Given the description of an element on the screen output the (x, y) to click on. 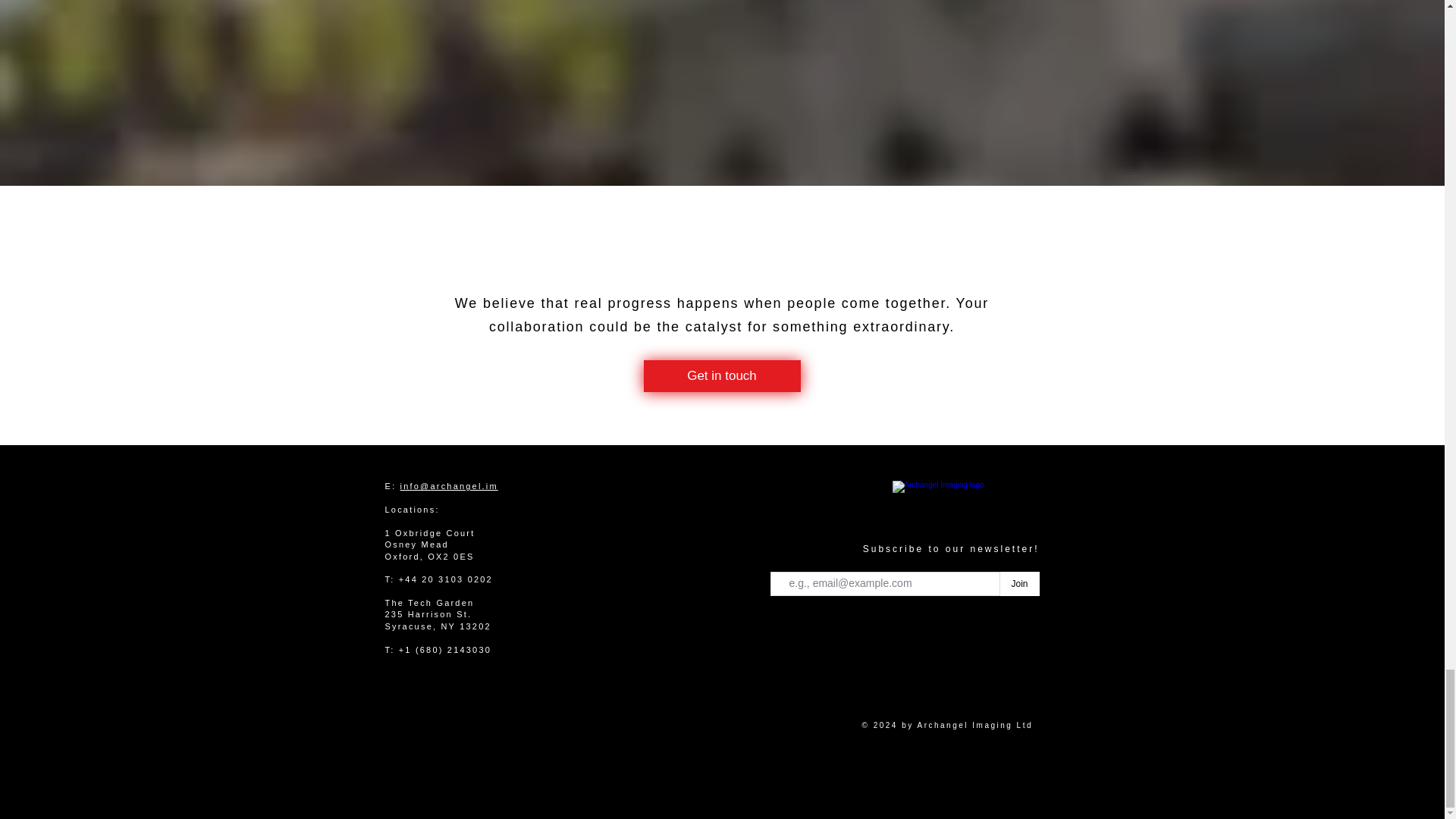
Join (1018, 583)
Get in touch (721, 376)
